Given the description of an element on the screen output the (x, y) to click on. 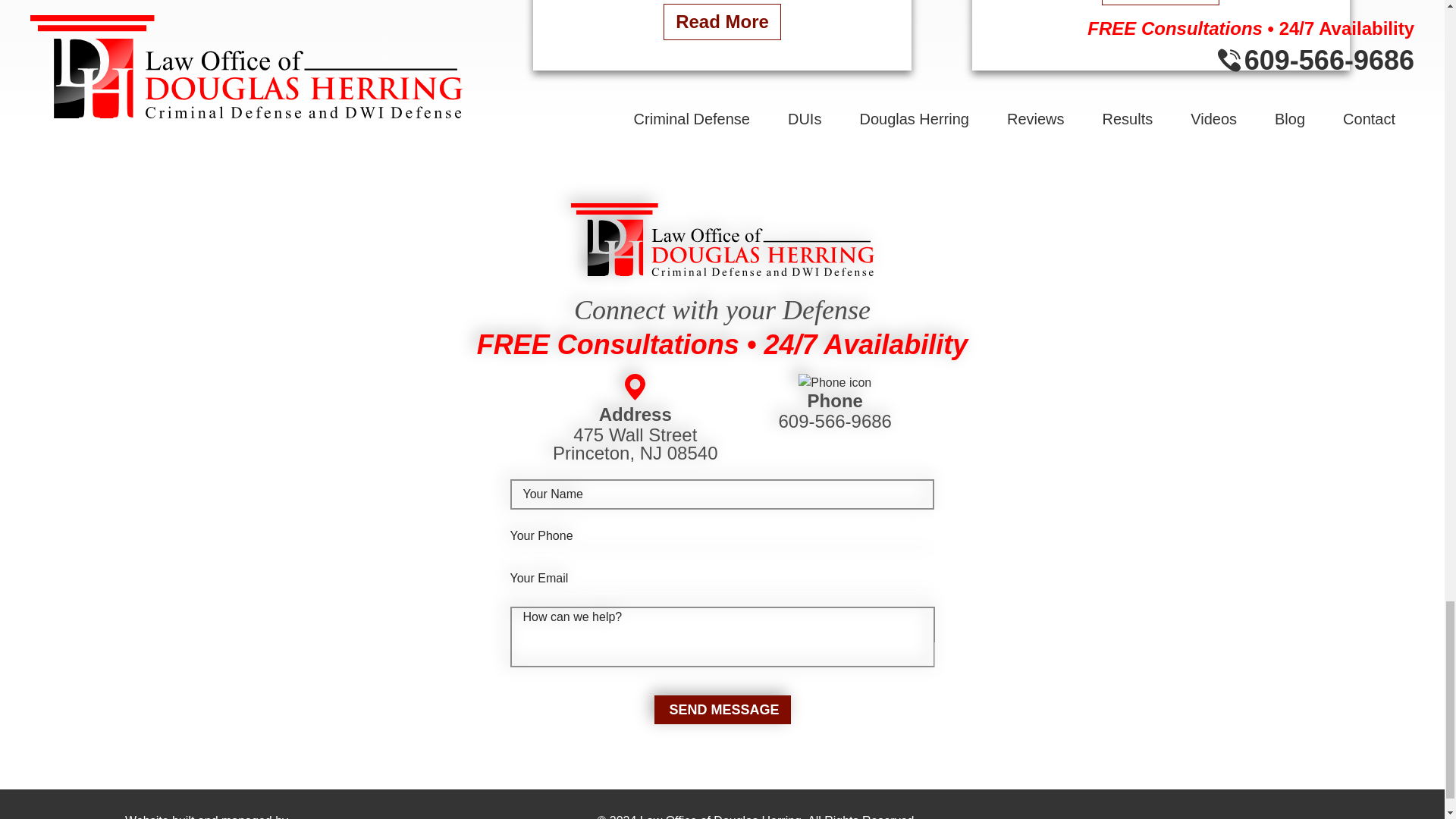
Send Message (721, 709)
